Given the description of an element on the screen output the (x, y) to click on. 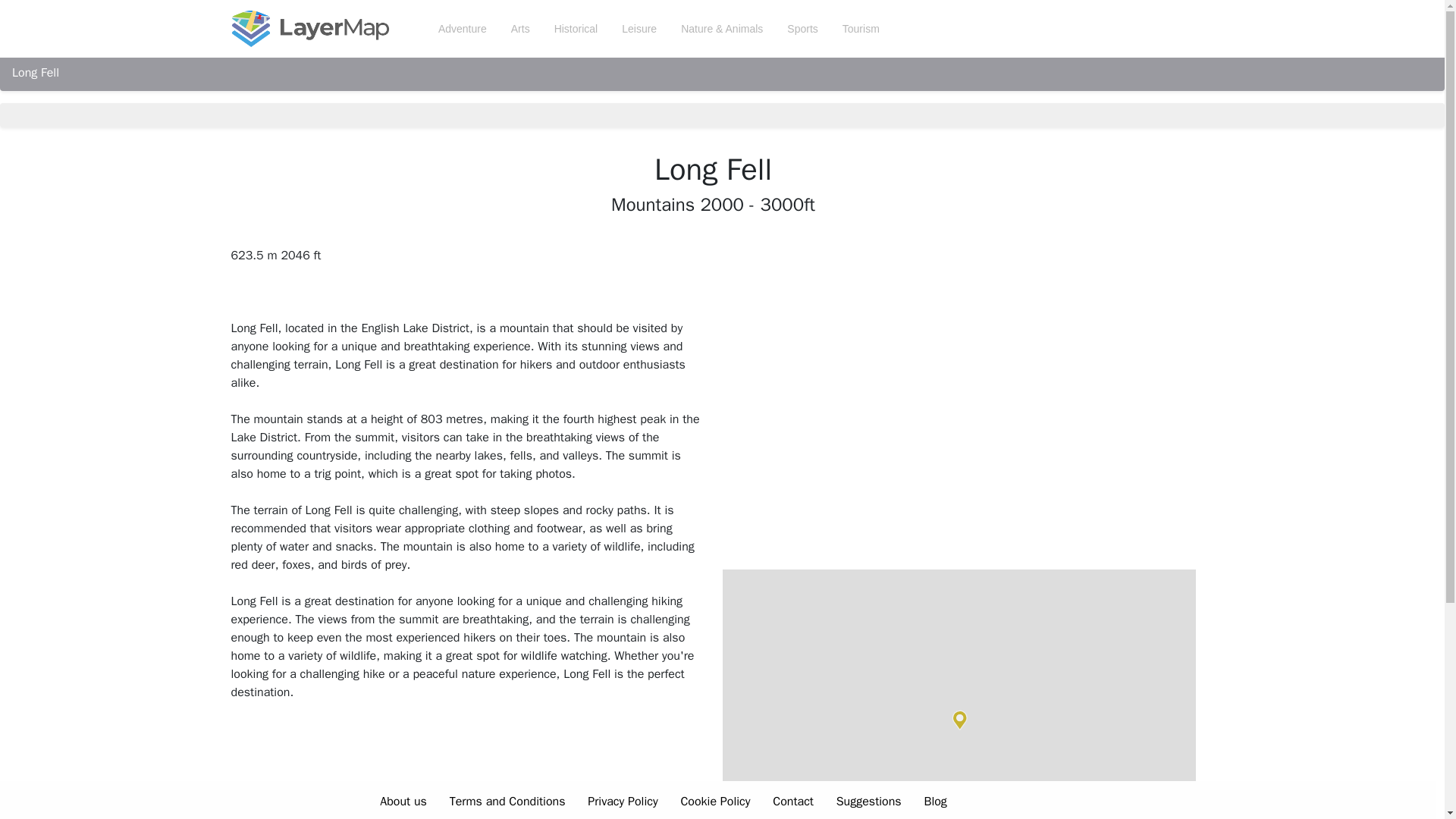
Leisure (639, 29)
Historical (575, 29)
Adventure (462, 29)
Arts (520, 29)
